Given the description of an element on the screen output the (x, y) to click on. 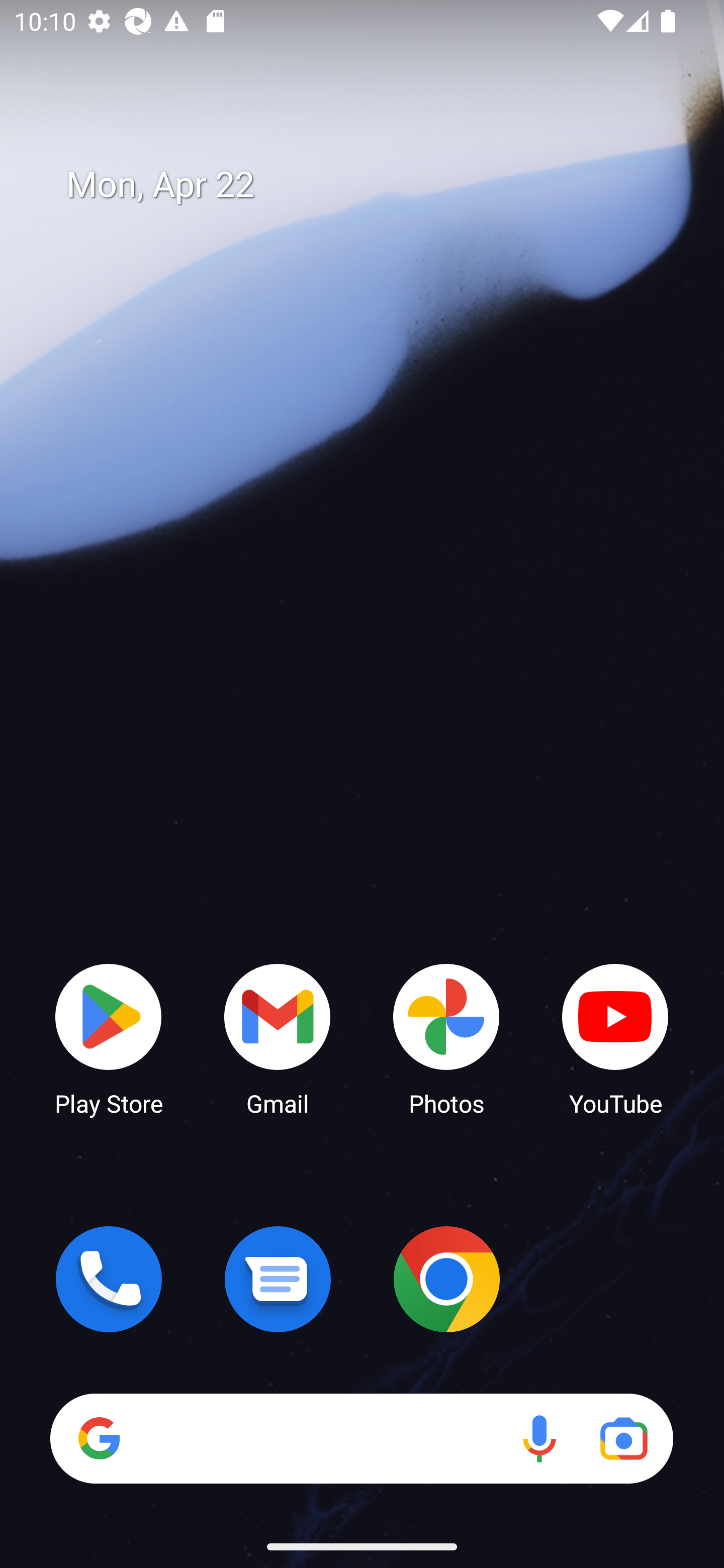
Mon, Apr 22 (375, 184)
Play Store (108, 1038)
Gmail (277, 1038)
Photos (445, 1038)
YouTube (615, 1038)
Phone (108, 1279)
Messages (277, 1279)
Chrome (446, 1279)
Search Voice search Google Lens (361, 1438)
Voice search (539, 1438)
Google Lens (623, 1438)
